Given the description of an element on the screen output the (x, y) to click on. 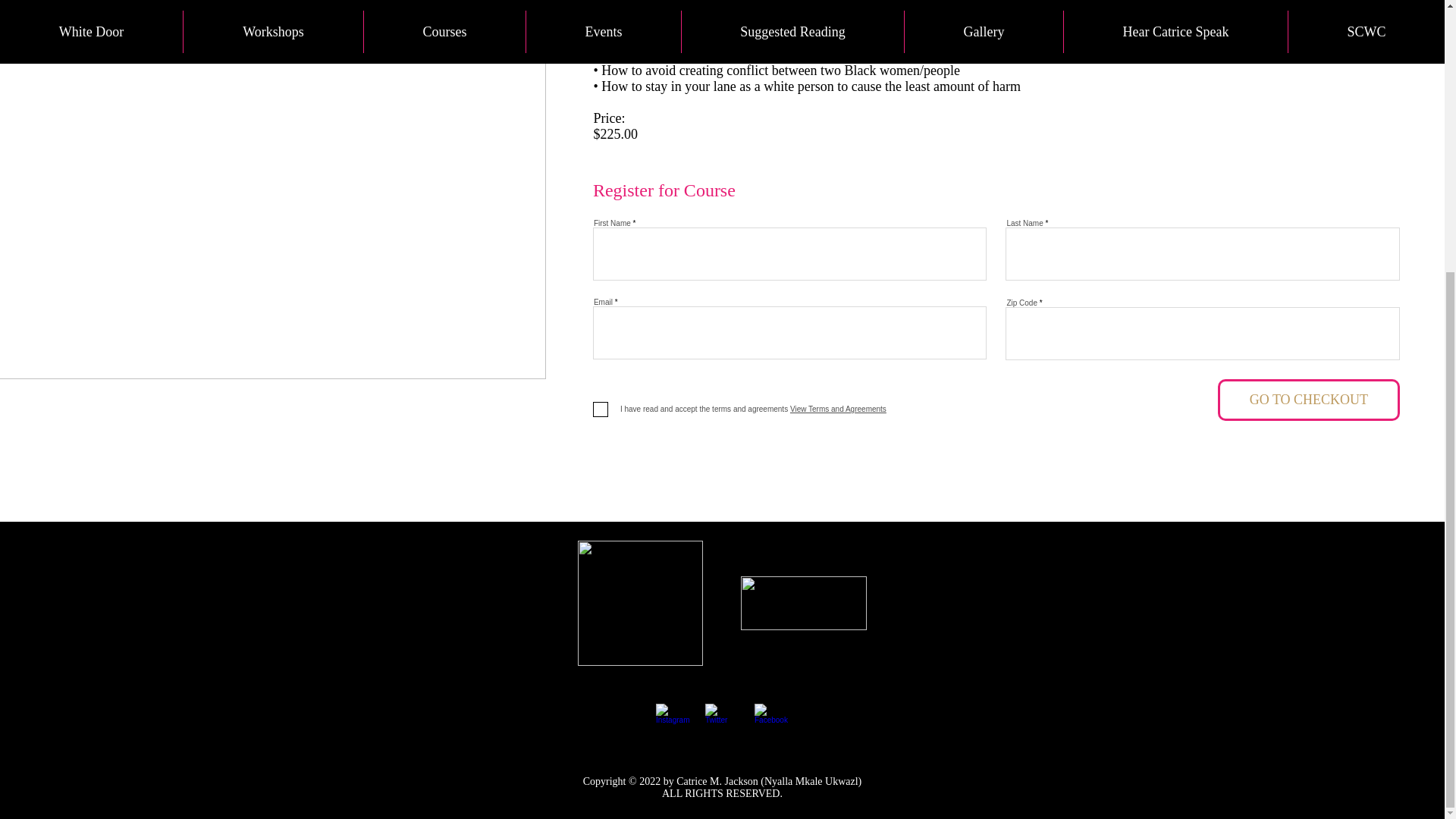
GO TO CHECKOUT (1308, 399)
View Terms and Agreements (836, 408)
